Given the description of an element on the screen output the (x, y) to click on. 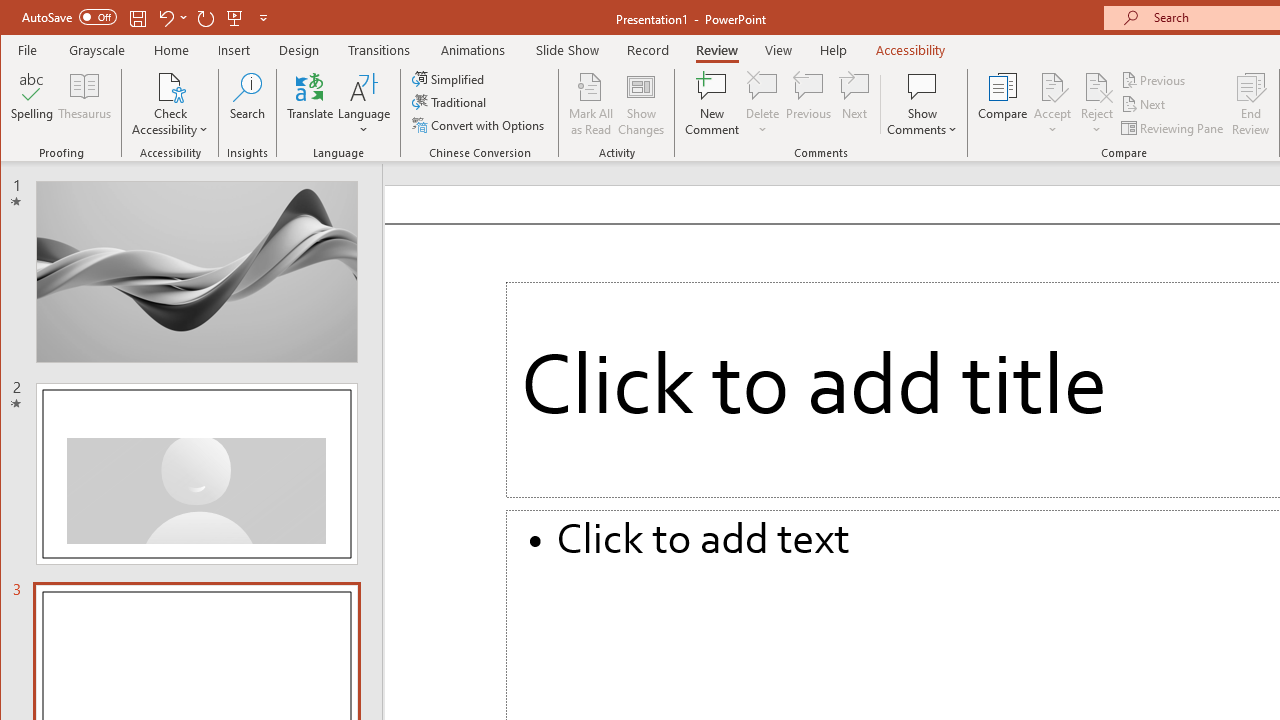
Convert with Options... (479, 124)
Next (1144, 103)
Simplified (450, 78)
Accept Change (1052, 86)
Thesaurus... (84, 104)
Language (363, 104)
Show Changes (640, 104)
